Given the description of an element on the screen output the (x, y) to click on. 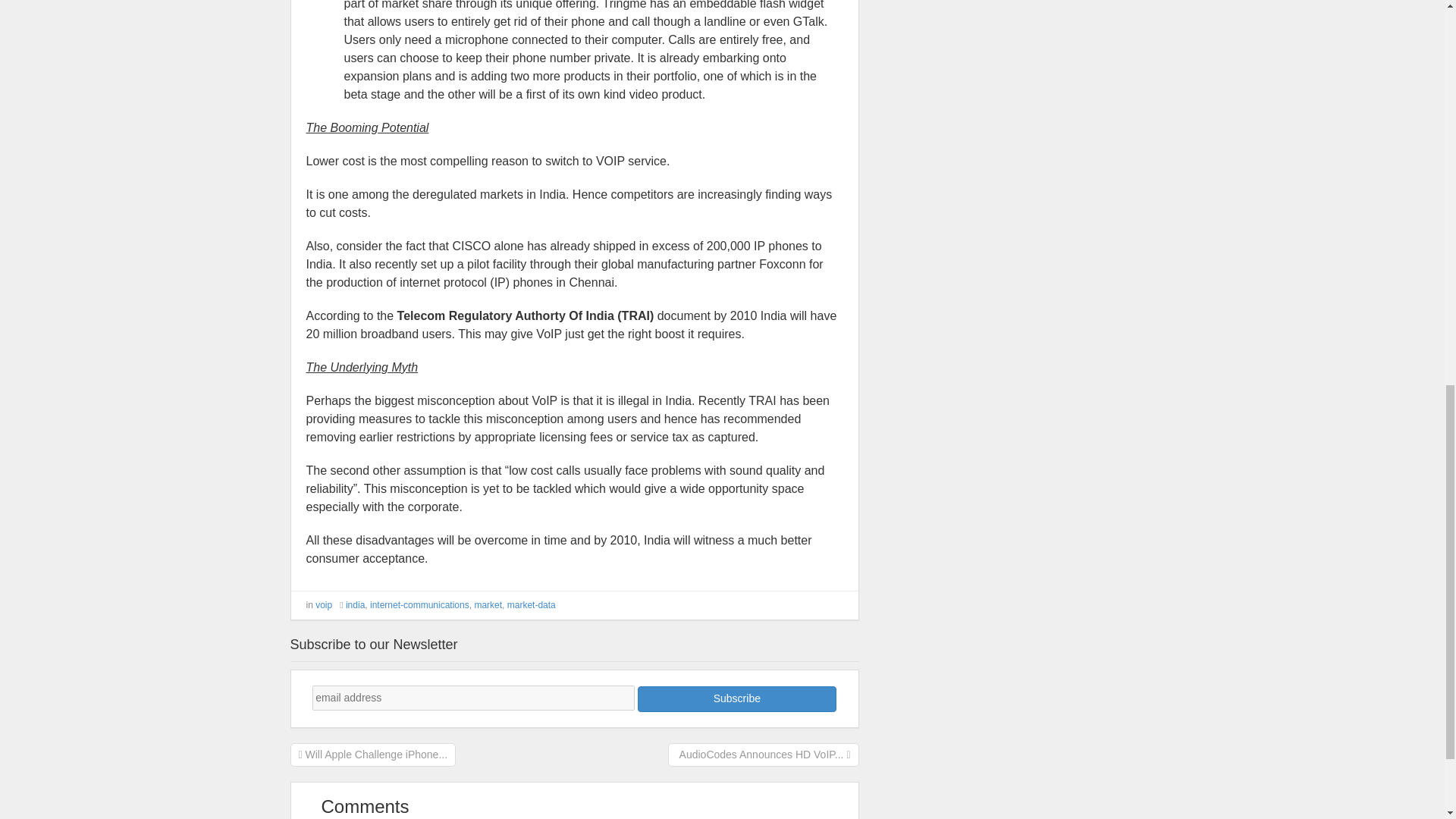
internet-communications (418, 604)
 Will Apple Challenge iPhone... (373, 753)
Subscribe (736, 698)
india (355, 604)
market-data (531, 604)
voip (323, 604)
Subscribe (736, 698)
market (488, 604)
 AudioCodes Announces HD VoIP...  (763, 753)
